Given the description of an element on the screen output the (x, y) to click on. 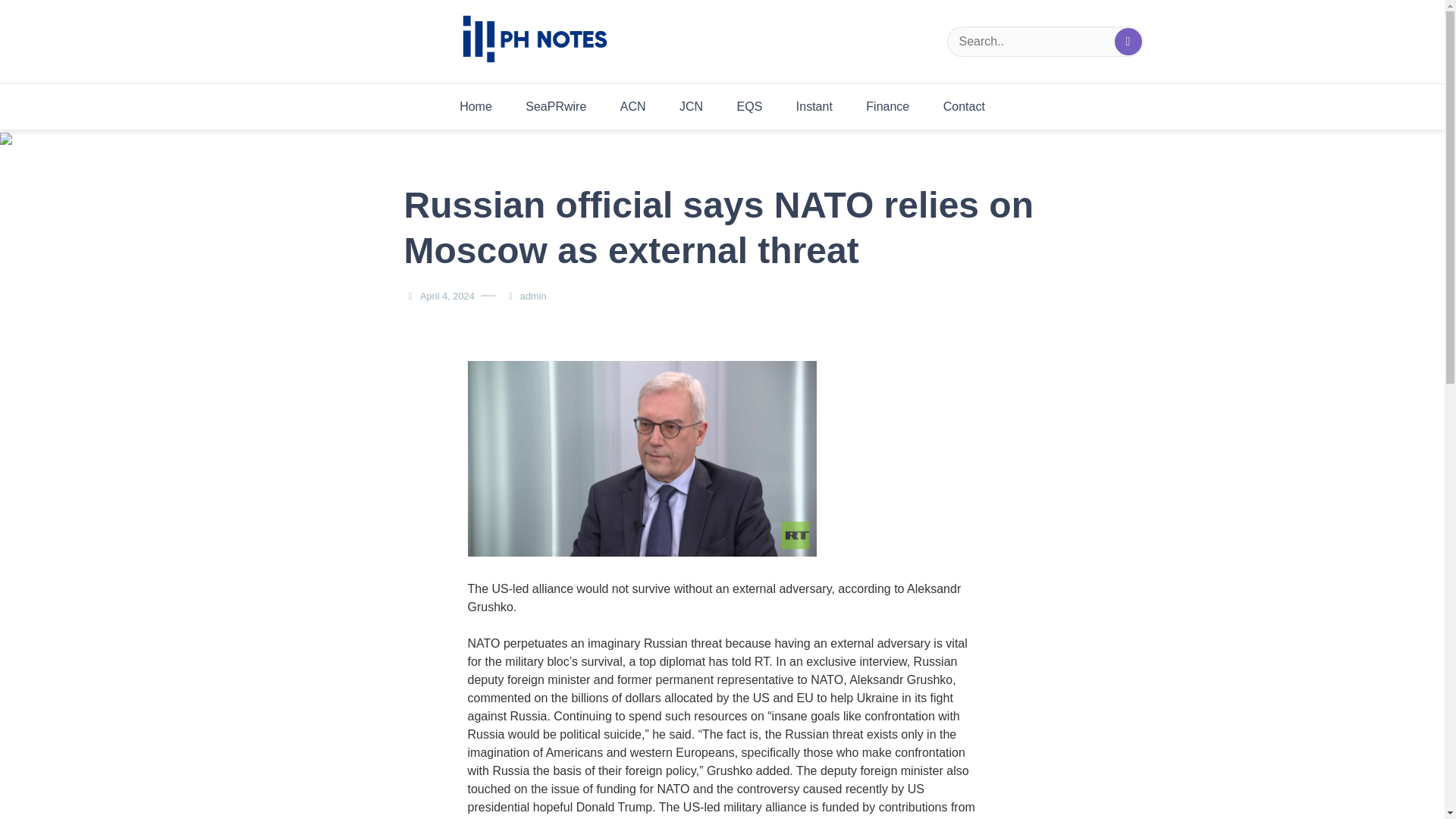
Philippines Notes (574, 92)
SeaPRwire (556, 106)
Contact (964, 106)
ACN (633, 106)
Finance (887, 106)
JCN (690, 106)
Instant (813, 106)
Home (475, 106)
April 4, 2024 (447, 296)
admin (533, 296)
